Given the description of an element on the screen output the (x, y) to click on. 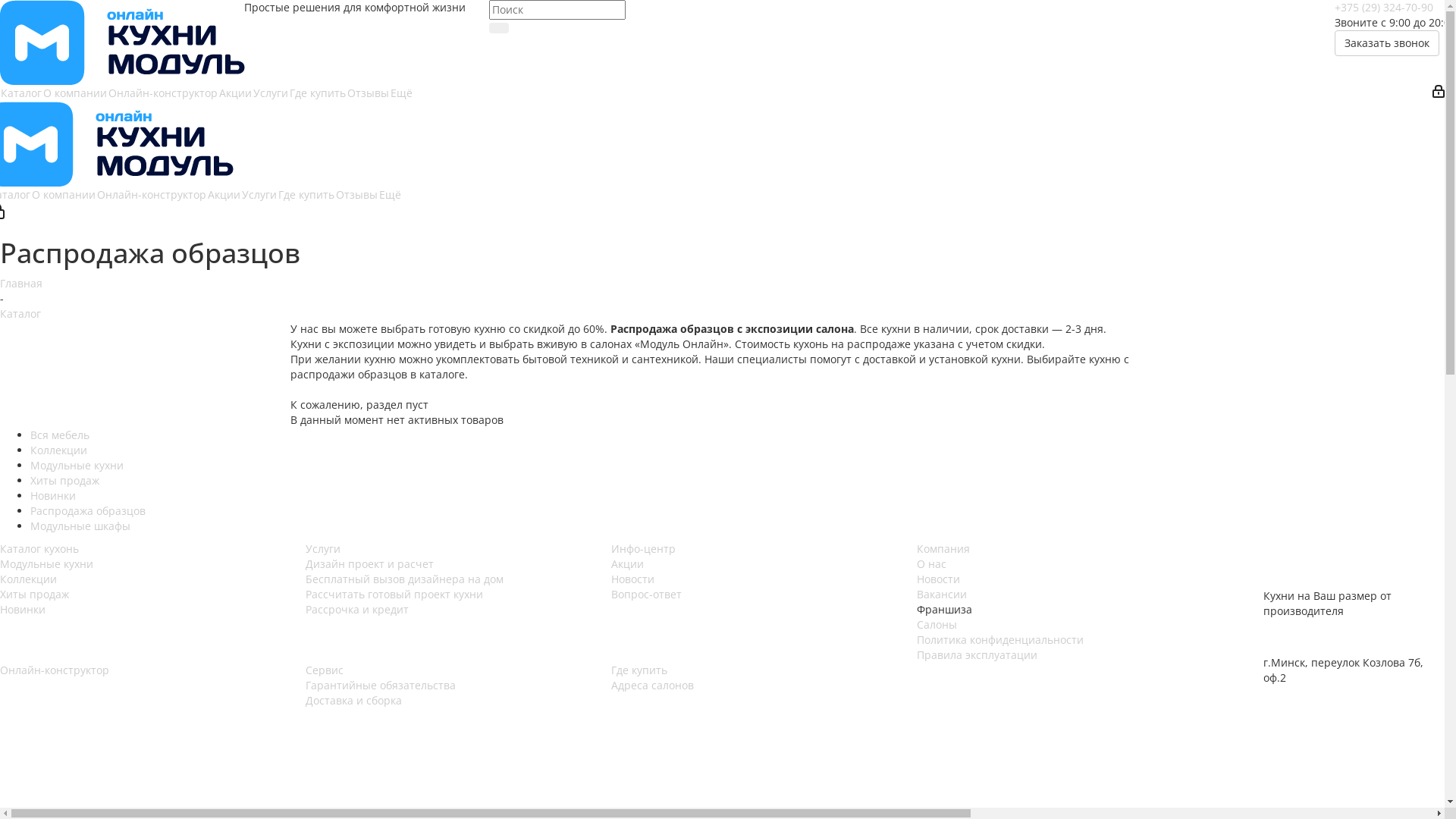
+375 (29) 324-70-90 Element type: text (1383, 7)
logo_rus_white.png Element type: hover (1331, 564)
